Given the description of an element on the screen output the (x, y) to click on. 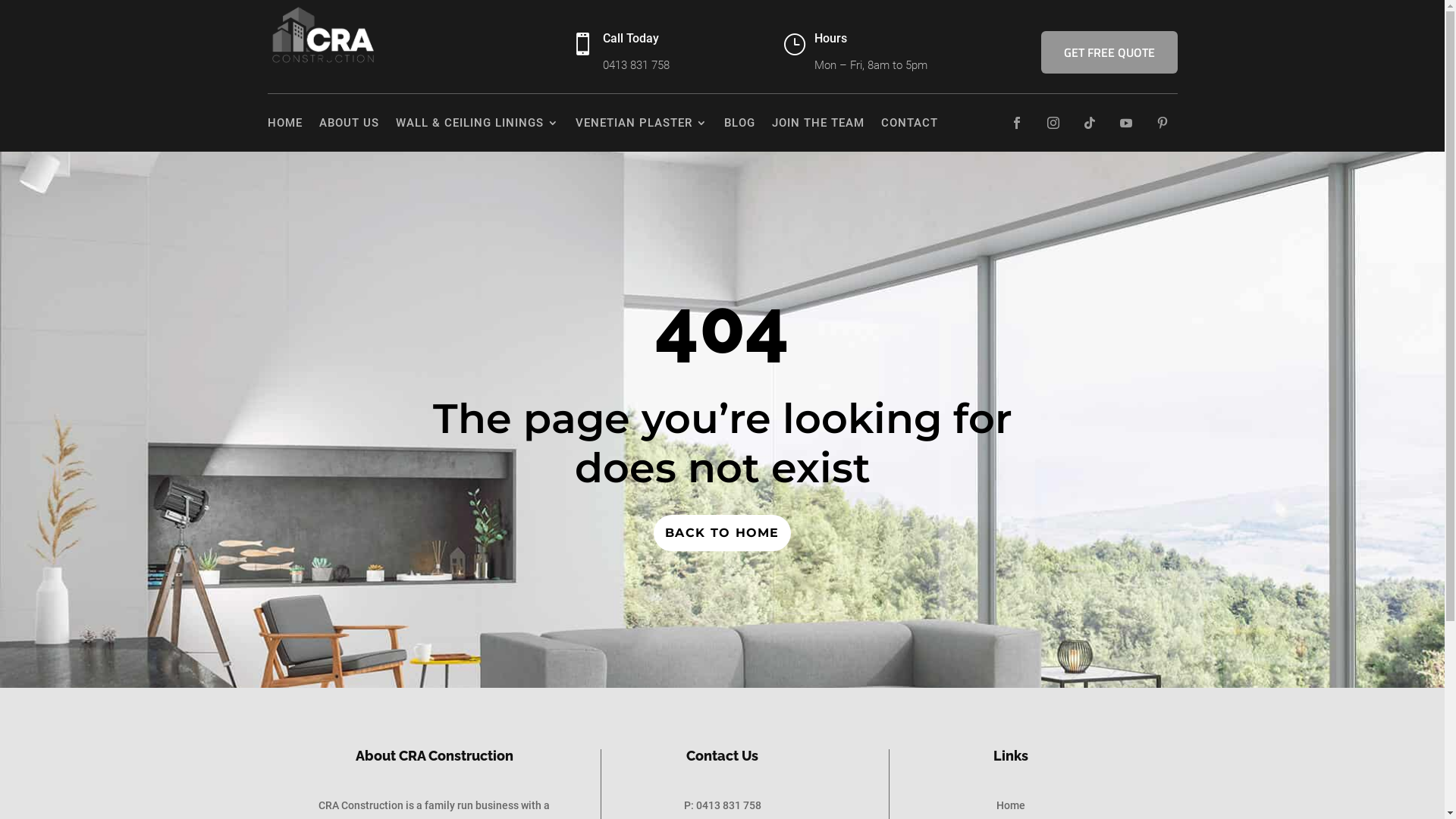
Follow on TikTok Element type: hover (1088, 122)
Follow on Instagram Element type: hover (1052, 122)
0413 831 758 Element type: text (728, 805)
Follow on Facebook Element type: hover (1016, 122)
BACK TO HOME Element type: text (721, 532)
CONTACT Element type: text (909, 122)
Follow on Youtube Element type: hover (1125, 122)
WALL & CEILING LININGS Element type: text (476, 122)
Home Element type: text (1010, 805)
Follow on Pinterest Element type: hover (1161, 122)
JOIN THE TEAM Element type: text (817, 122)
VENETIAN PLASTER Element type: text (640, 122)
0413 831 758 Element type: text (635, 65)
HOME Element type: text (283, 122)
GET FREE QUOTE Element type: text (1108, 52)
BLOG Element type: text (738, 122)
ABOUT US Element type: text (348, 122)
